Given the description of an element on the screen output the (x, y) to click on. 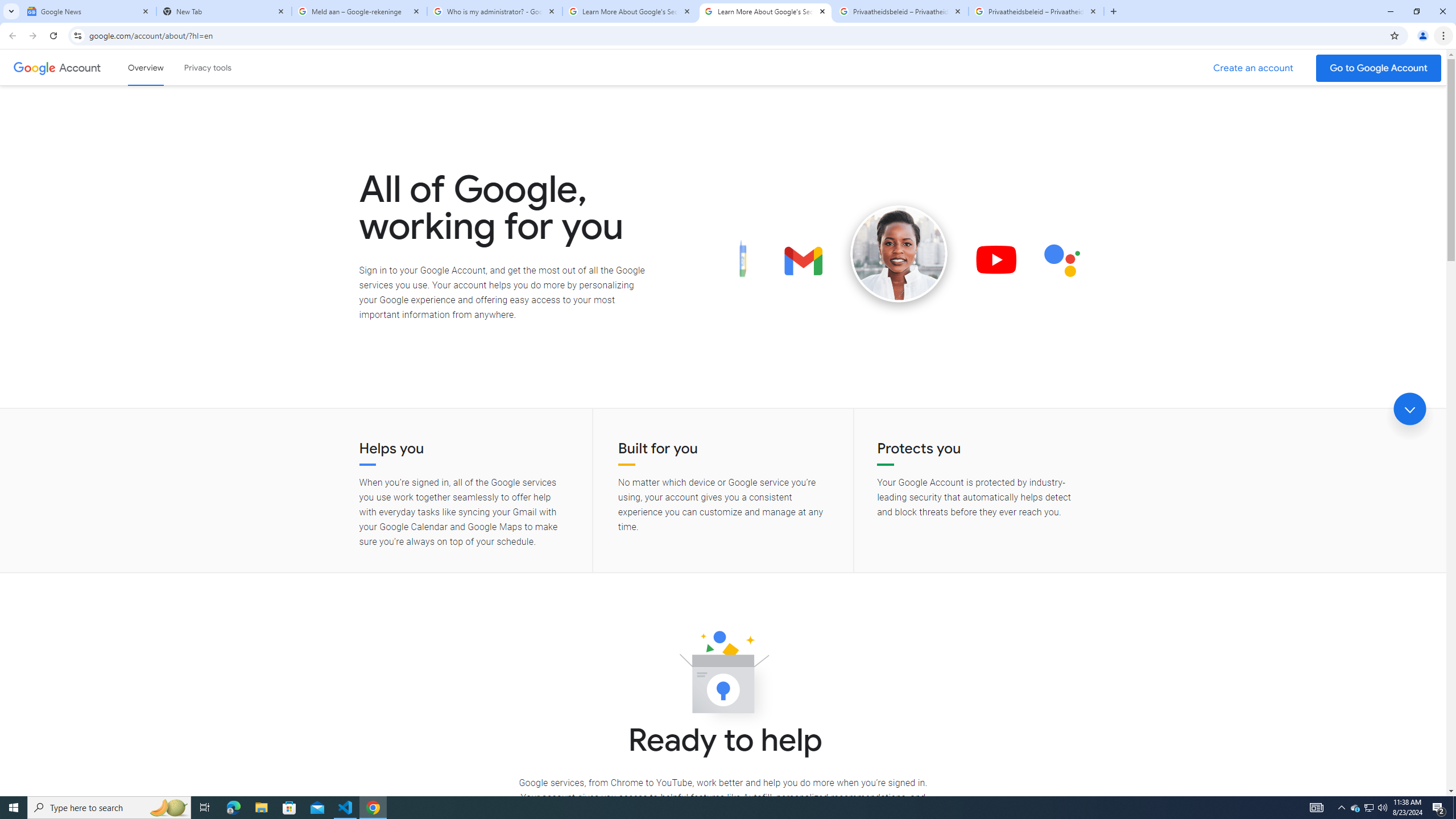
Google logo (34, 67)
Create a Google Account (1253, 67)
Bookmark this tab (1393, 35)
Back (10, 35)
